Given the description of an element on the screen output the (x, y) to click on. 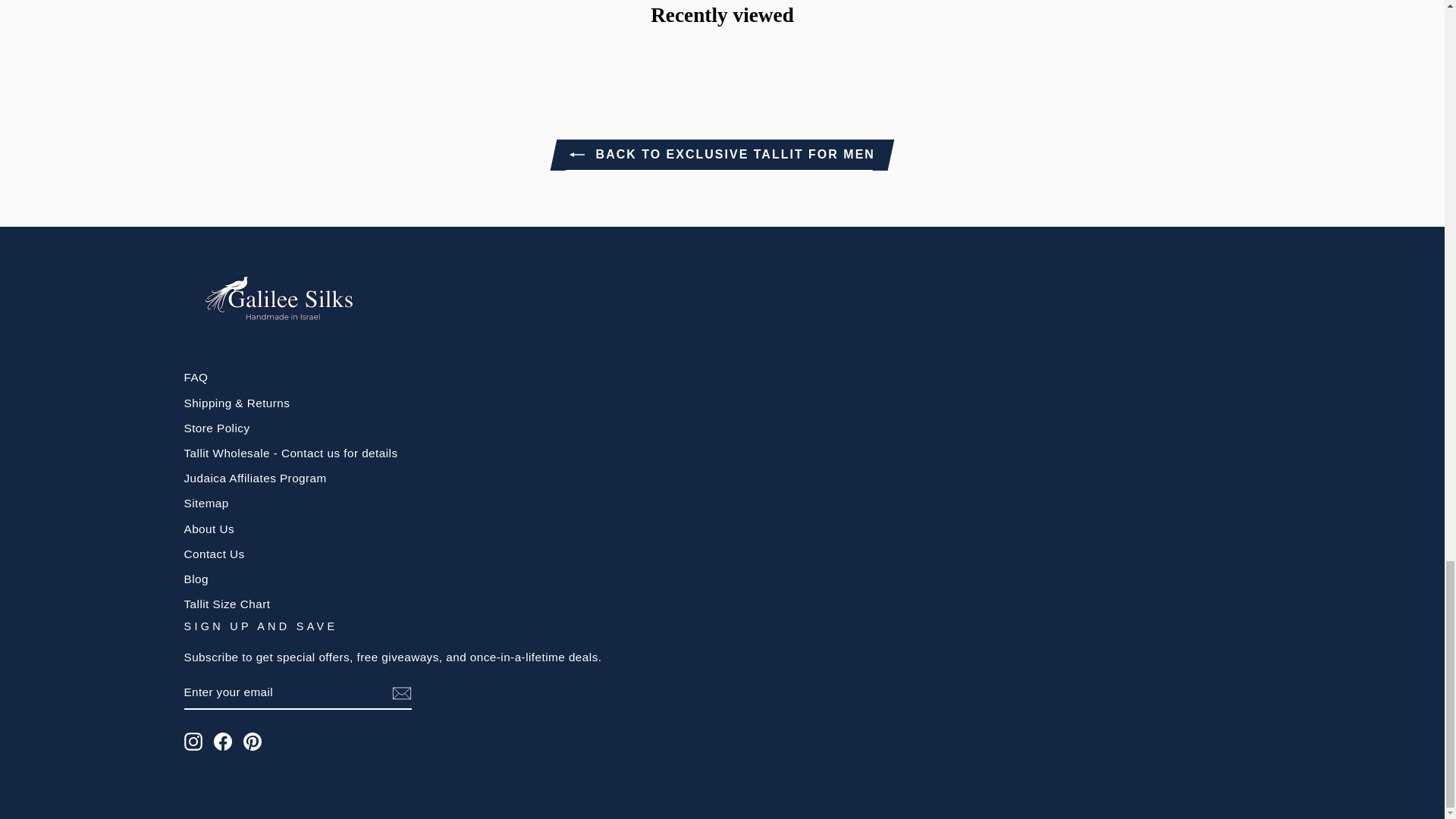
Galilee Silks on Instagram (192, 741)
Galilee Silks on Pinterest (251, 741)
Galilee Silks on Facebook (222, 741)
